Given the description of an element on the screen output the (x, y) to click on. 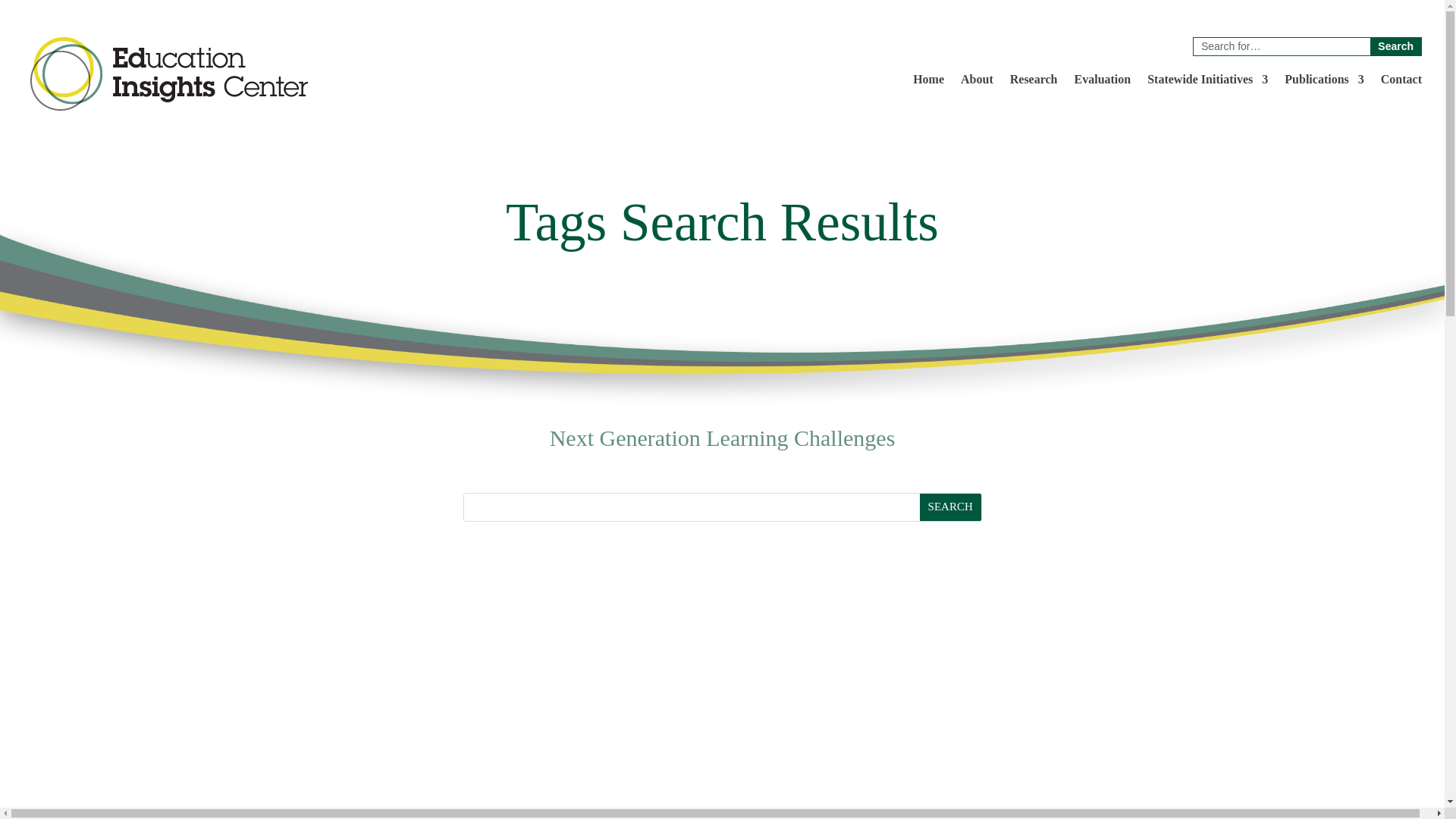
Search (950, 506)
Search (1395, 46)
Statewide Initiatives (1207, 82)
About (976, 82)
Search (1395, 46)
Search (950, 506)
Contact (1401, 82)
Home (927, 82)
Research (1034, 82)
Go to home page (169, 73)
